Given the description of an element on the screen output the (x, y) to click on. 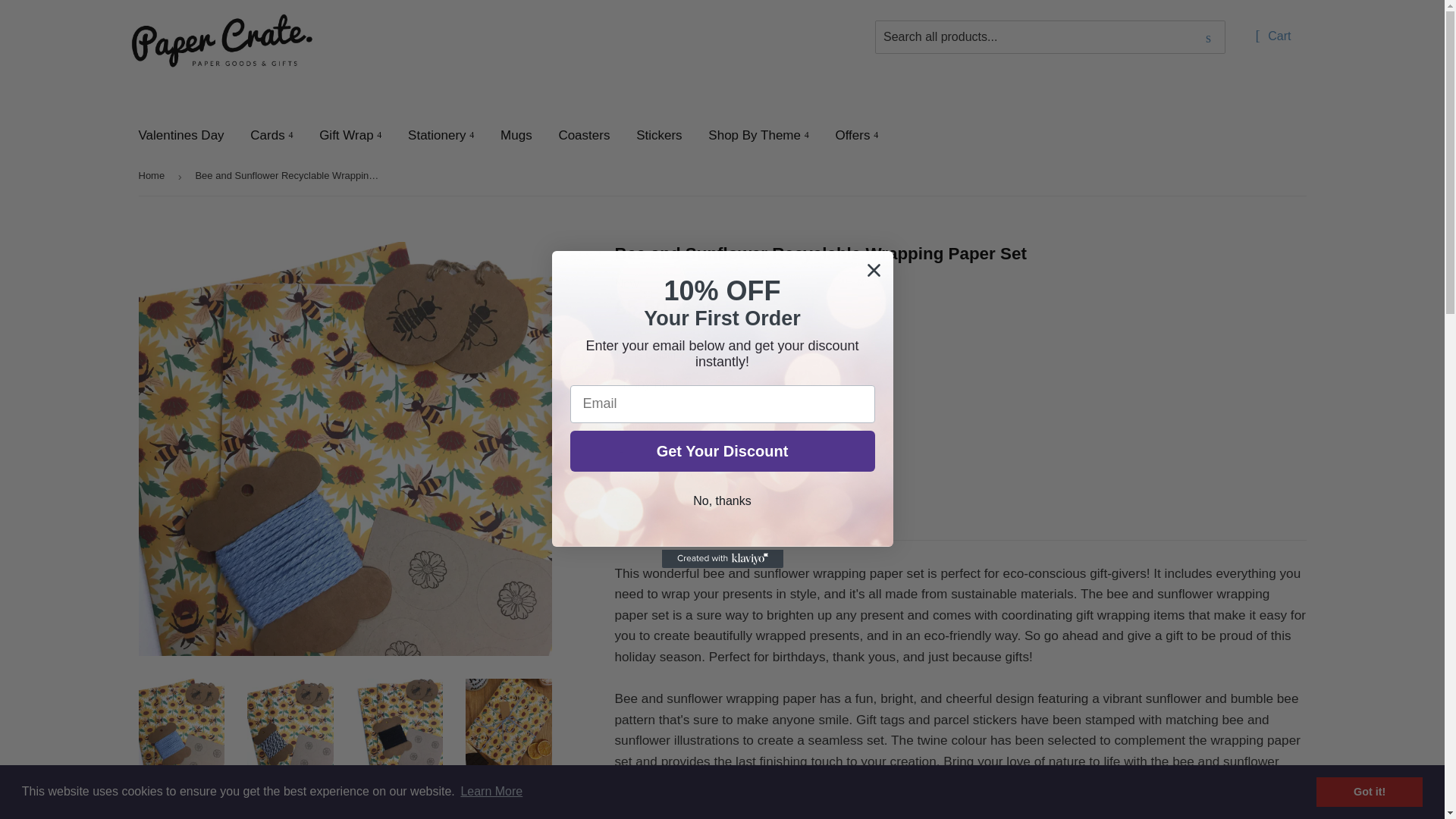
Got it! (1369, 791)
Search (1208, 38)
Back to the frontpage (154, 176)
Cart (1273, 37)
Learn More (491, 791)
1 (652, 454)
